Given the description of an element on the screen output the (x, y) to click on. 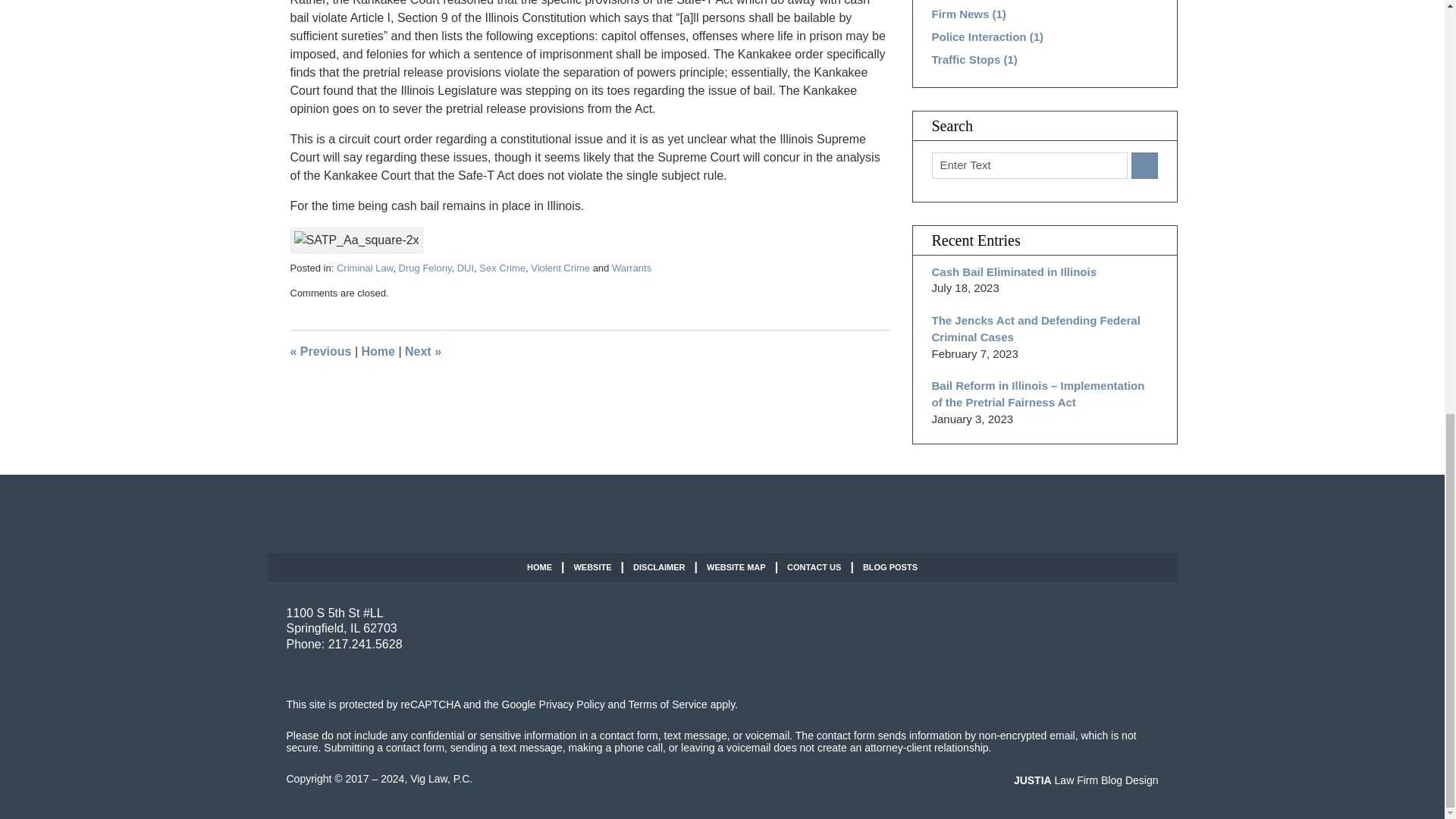
View all posts in DUI (465, 267)
View all posts in Criminal Law (364, 267)
View all posts in Violent Crime (560, 267)
The Jencks Act and Defending Federal Criminal Cases (422, 350)
Illinois DUI: Unconscious Blood Draw (319, 350)
View all posts in Sex Crime (502, 267)
Drug Felony (424, 267)
View all posts in Drug Felony (424, 267)
Criminal Law (364, 267)
Warrants (630, 267)
Sex Crime (502, 267)
Violent Crime (560, 267)
DUI (465, 267)
Home (377, 350)
View all posts in Warrants (630, 267)
